Given the description of an element on the screen output the (x, y) to click on. 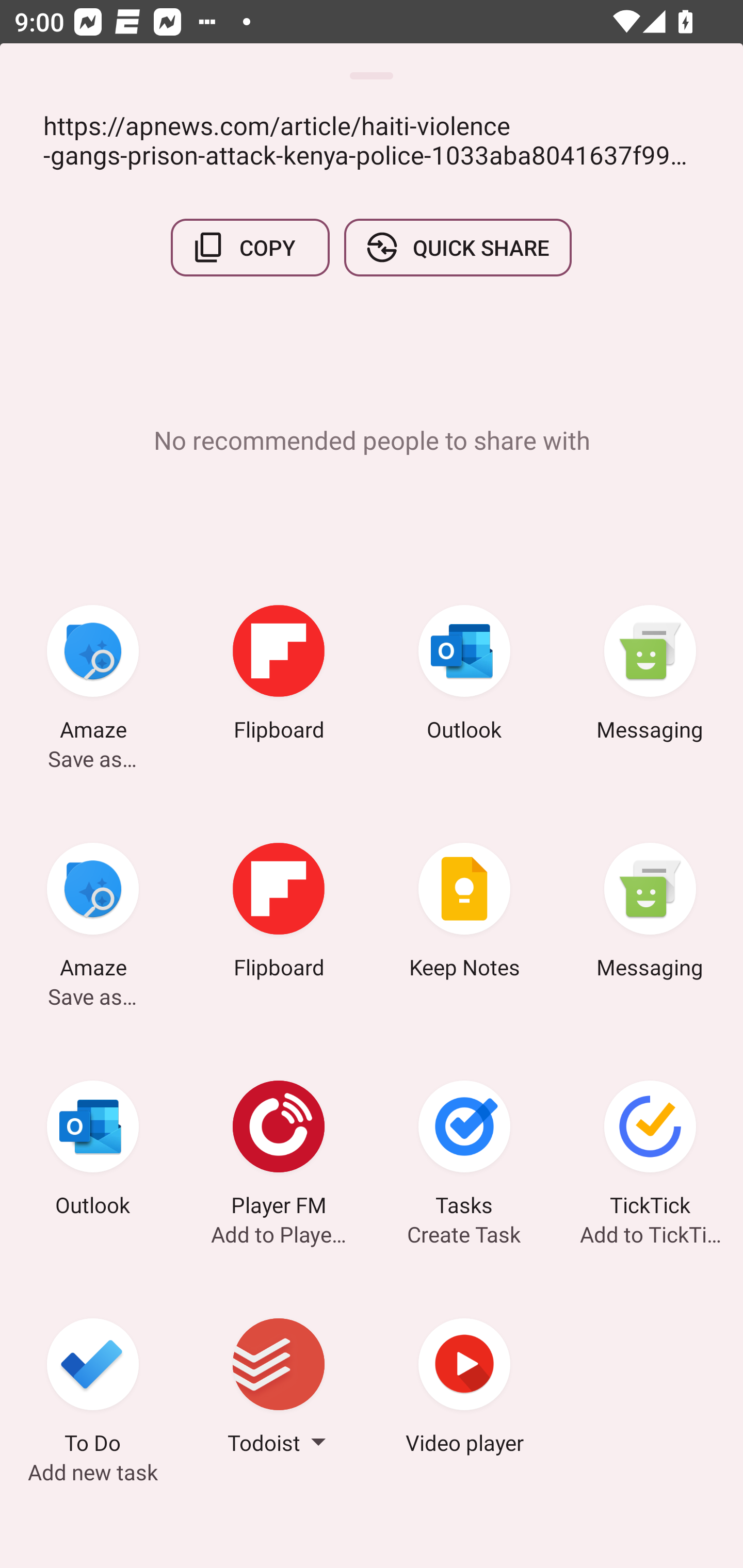
COPY (249, 247)
QUICK SHARE (457, 247)
Amaze Save as… (92, 675)
Flipboard (278, 675)
Outlook (464, 675)
Messaging (650, 675)
Amaze Save as… (92, 913)
Flipboard (278, 913)
Keep Notes (464, 913)
Messaging (650, 913)
Outlook (92, 1151)
Player FM Add to Player FM (278, 1151)
Tasks Create Task (464, 1151)
TickTick Add to TickTick (650, 1151)
To Do Add new task (92, 1389)
Todoist (278, 1389)
Video player (464, 1389)
